Given the description of an element on the screen output the (x, y) to click on. 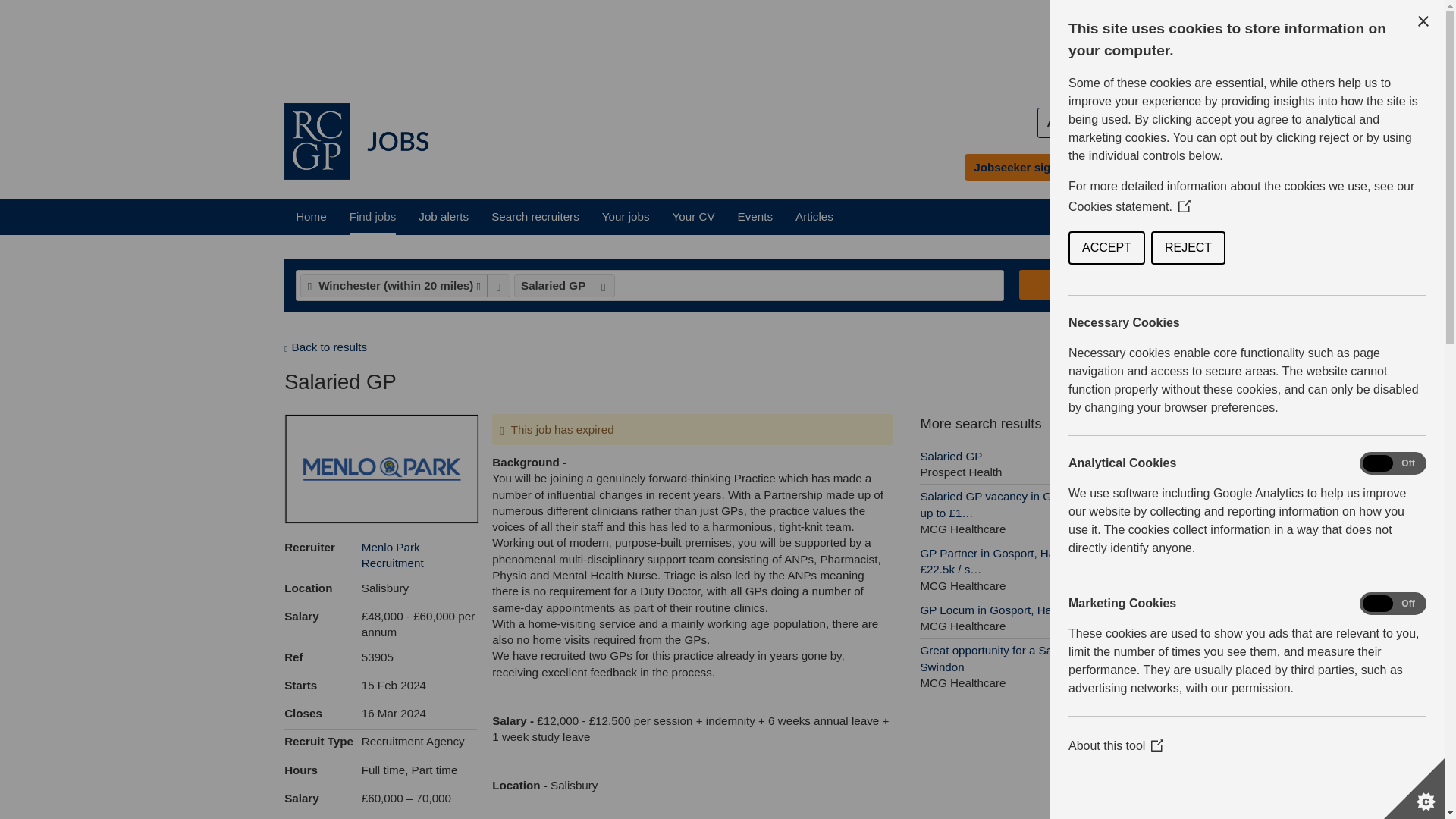
Find jobs (372, 216)
Great opportunity for a Salaried GP in Swindon (1039, 666)
Back to results (324, 346)
Articles (1039, 464)
ACCEPT (813, 216)
3rd party ad content (1246, 247)
Search (714, 41)
Advertise with us (1083, 284)
Your CV (1098, 122)
